Given the description of an element on the screen output the (x, y) to click on. 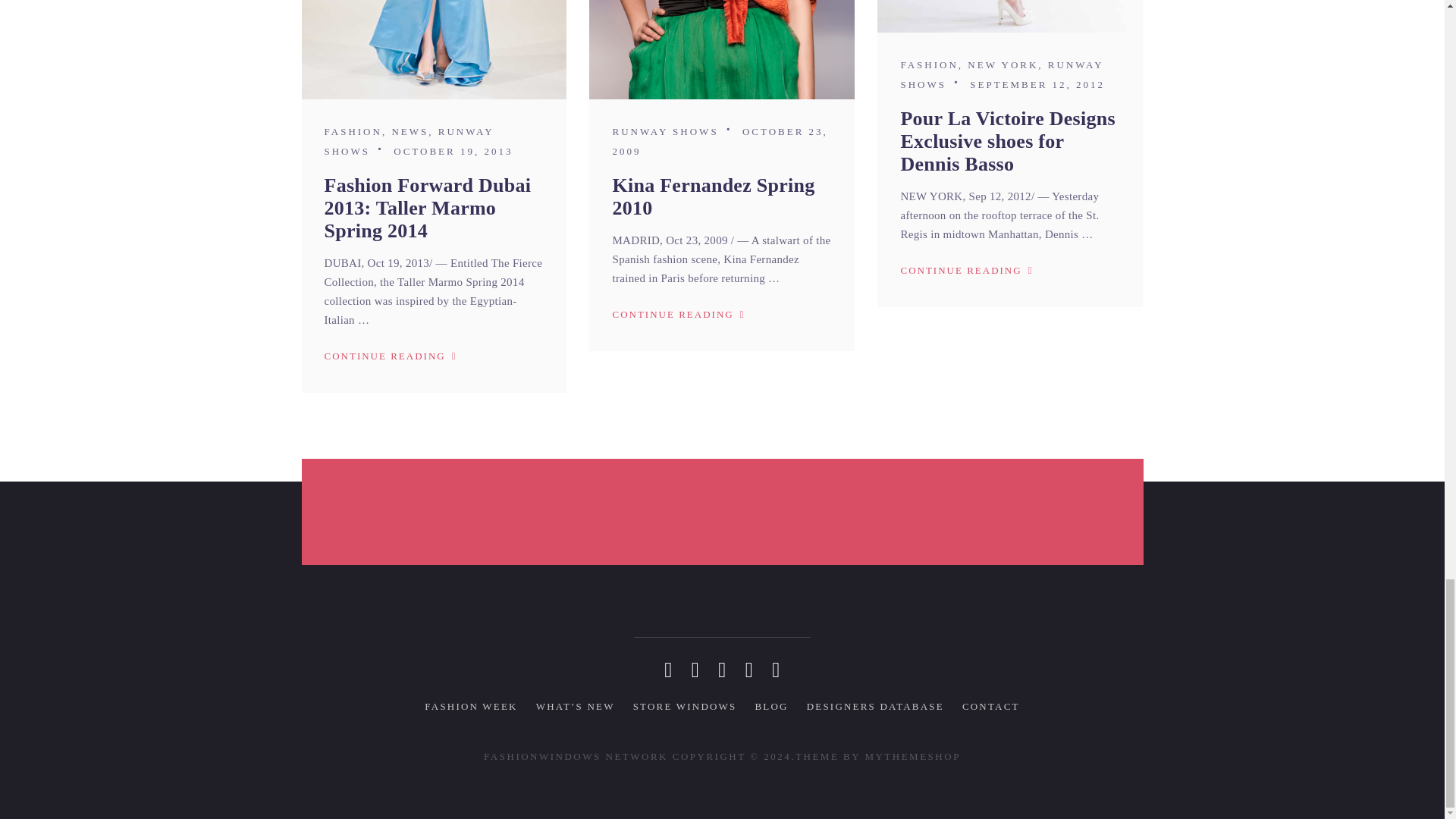
RUNWAY SHOWS (409, 141)
View all posts in Fashion (352, 131)
Fashion Forward Dubai 2013: Taller Marmo Spring 2014 (434, 49)
View all posts in News (409, 131)
Fashion Forward Dubai 2013: Taller Marmo Spring 2014 (427, 207)
FASHION (352, 131)
NEWS (409, 131)
